Given the description of an element on the screen output the (x, y) to click on. 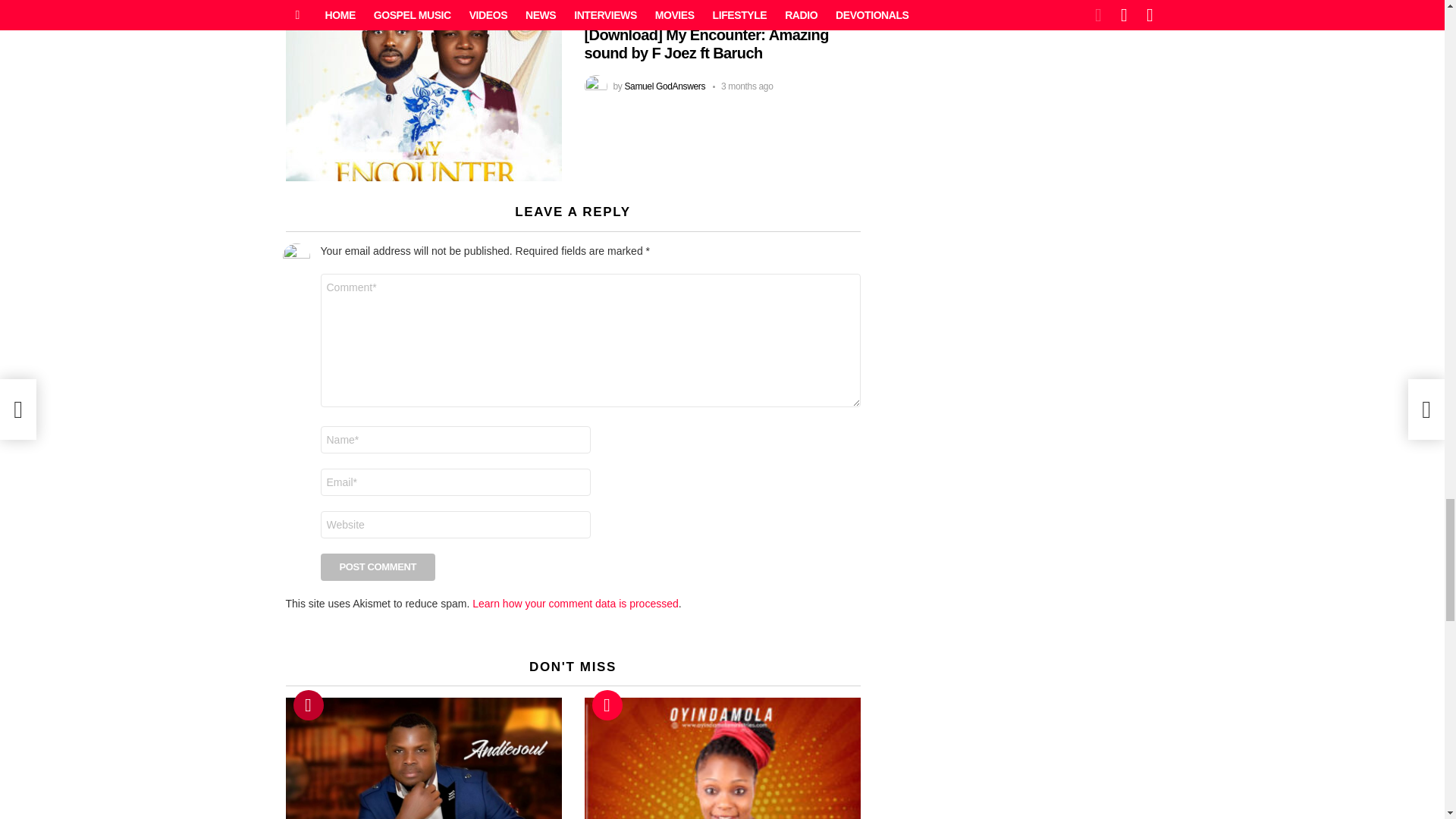
Post Comment (377, 566)
